Given the description of an element on the screen output the (x, y) to click on. 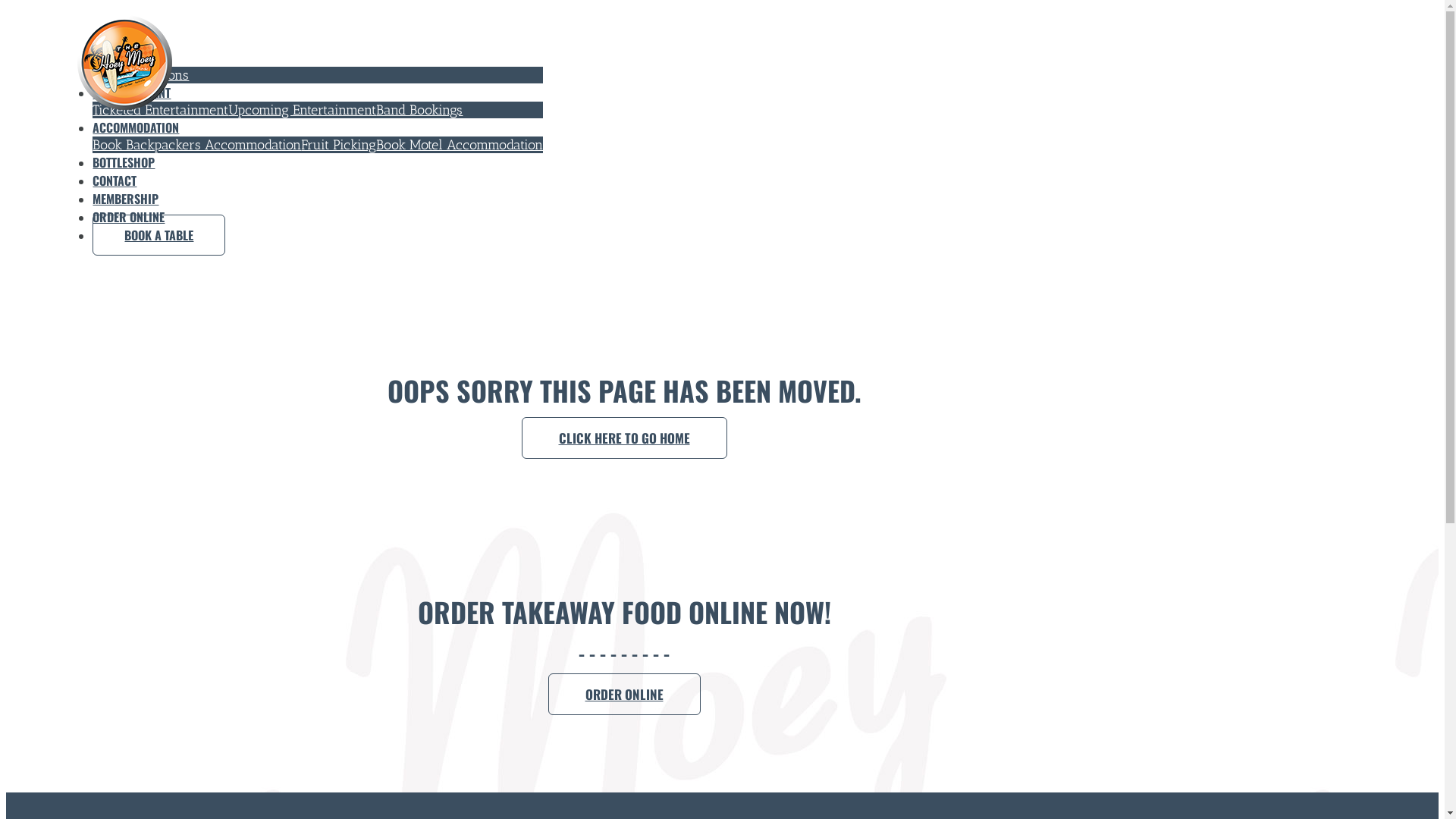
CLICK HERE TO GO HOME Element type: text (624, 437)
CONTACT Element type: text (114, 180)
MEMBERSHIP Element type: text (125, 198)
Band Bookings Element type: text (419, 109)
ORDER ONLINE Element type: text (623, 694)
Book Motel Accommodation Element type: text (459, 144)
ORDER ONLINE Element type: text (128, 216)
Functions Element type: text (159, 74)
Book Backpackers Accommodation Element type: text (196, 144)
ENTERTAINMENT Element type: text (131, 92)
Ticketed Entertainment Element type: text (160, 109)
BAR & DINING Element type: text (126, 57)
Fruit Picking Element type: text (338, 144)
Upcoming Entertainment Element type: text (302, 109)
BOTTLESHOP Element type: text (123, 162)
BOOK A TABLE Element type: text (158, 234)
Dining Element type: text (111, 74)
ACCOMMODATION Element type: text (135, 127)
